Given the description of an element on the screen output the (x, y) to click on. 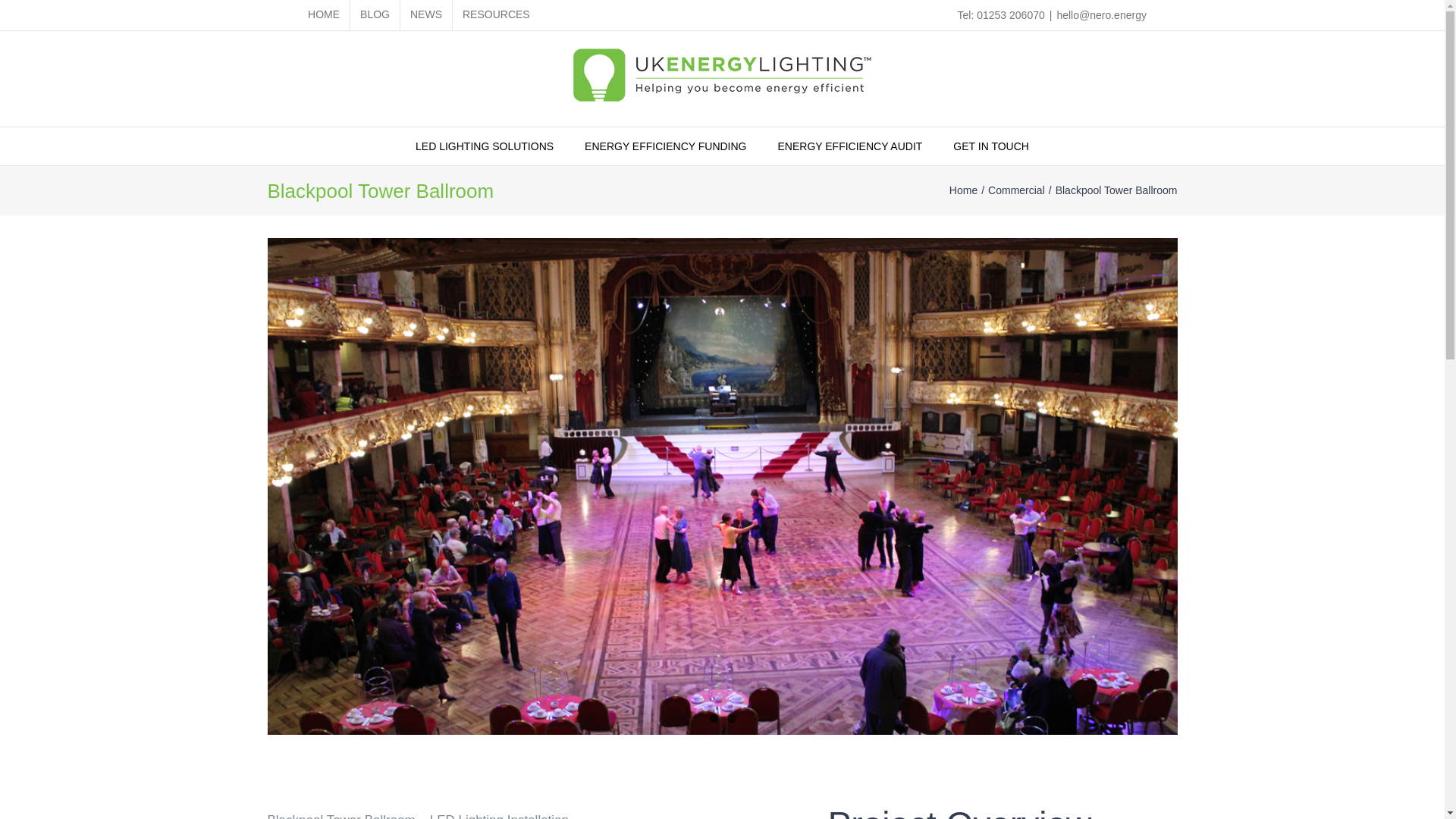
BLOG (374, 15)
LED Lighting News (425, 15)
LED LIGHTING SOLUTIONS (483, 146)
HOME (323, 15)
Blog (374, 15)
GET IN TOUCH (991, 146)
UK Energy Lighting (323, 15)
RESOURCES (496, 15)
ENERGY EFFICIENCY AUDIT (850, 146)
LED Lighting Solutions (483, 146)
ENERGY EFFICIENCY FUNDING (665, 146)
Resources (496, 15)
NEWS (425, 15)
